Given the description of an element on the screen output the (x, y) to click on. 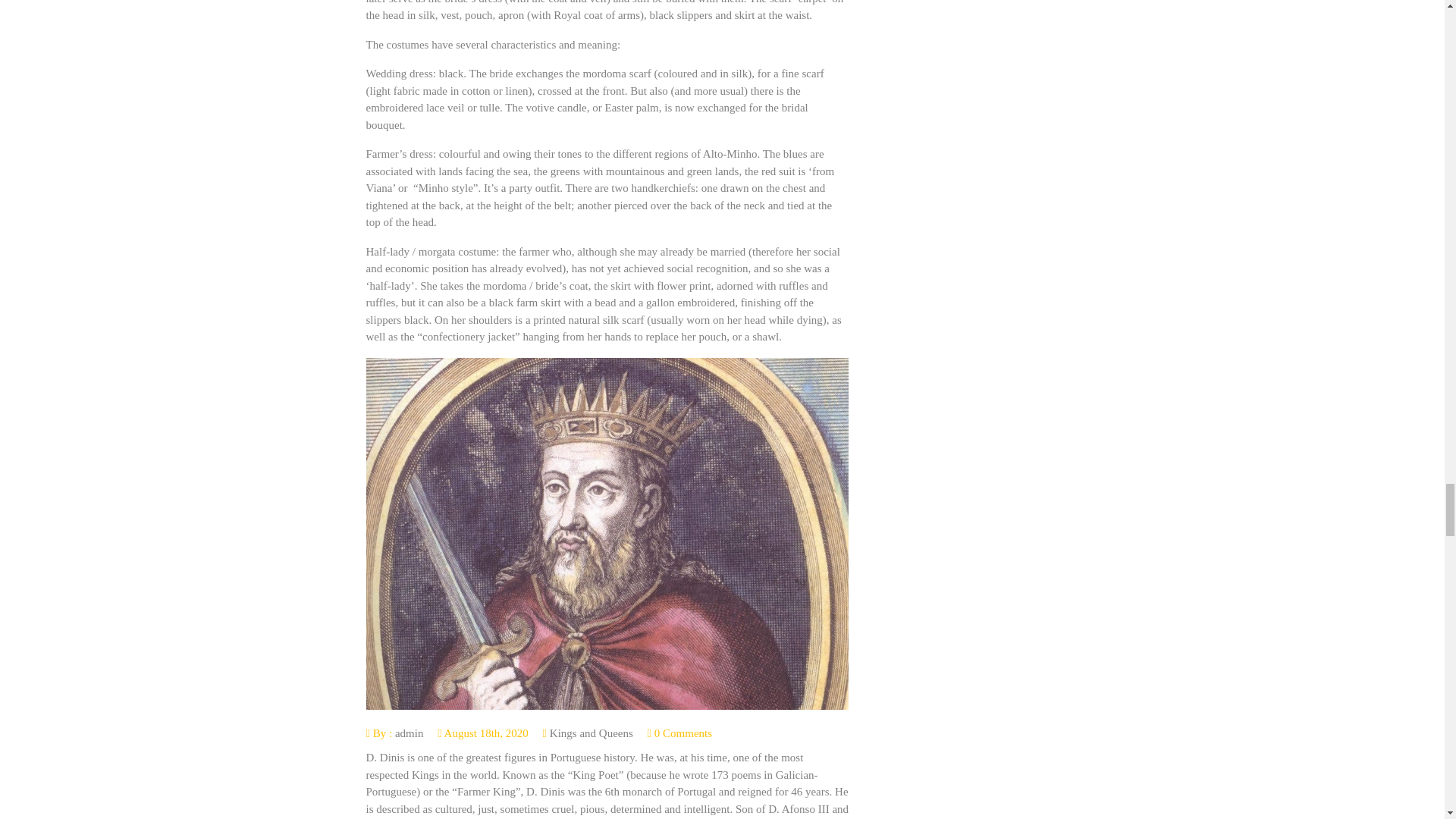
Posts by admin (408, 733)
Kings and Queens (591, 733)
admin (408, 733)
